Given the description of an element on the screen output the (x, y) to click on. 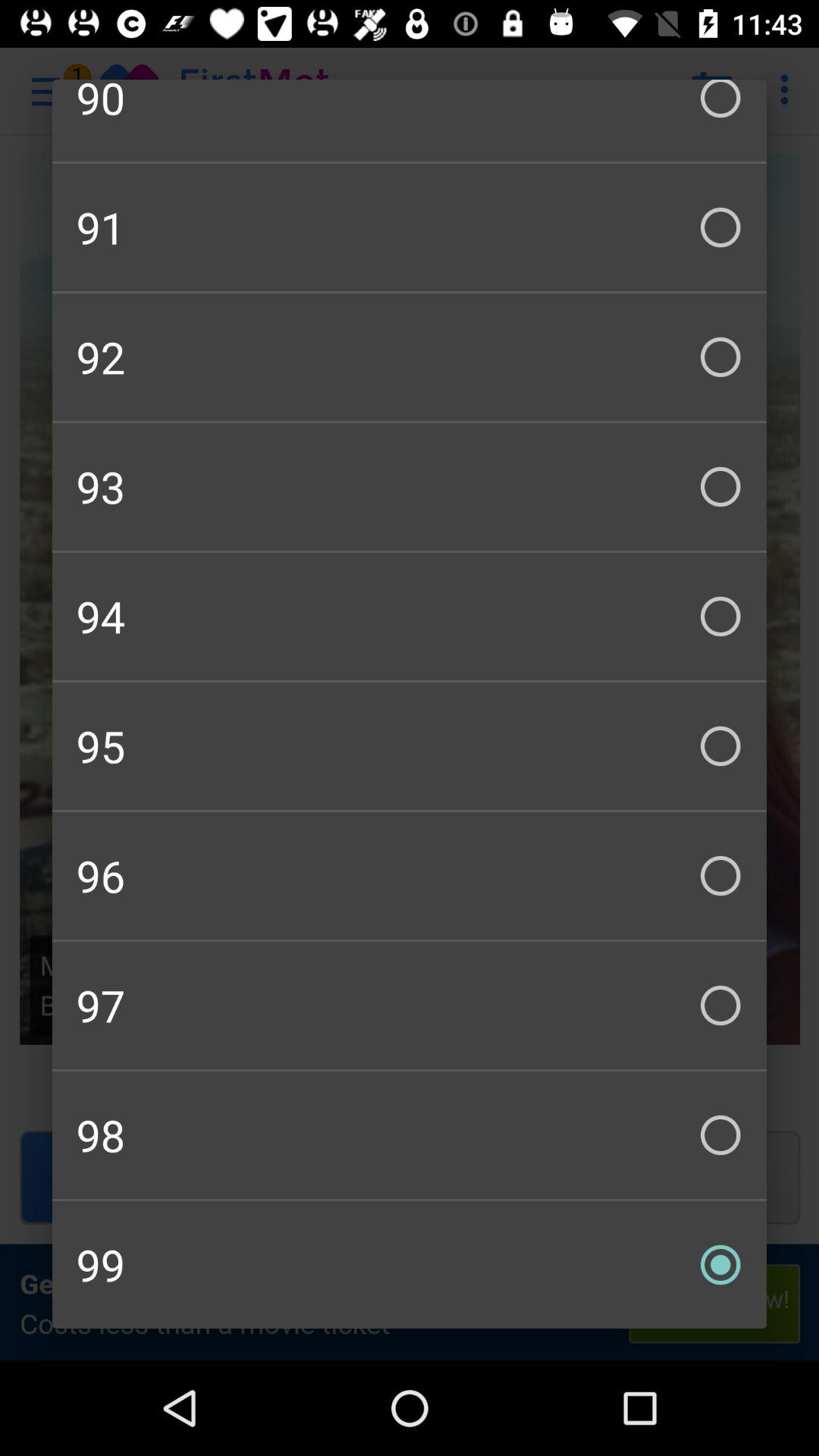
select checkbox above the 96 icon (409, 745)
